Given the description of an element on the screen output the (x, y) to click on. 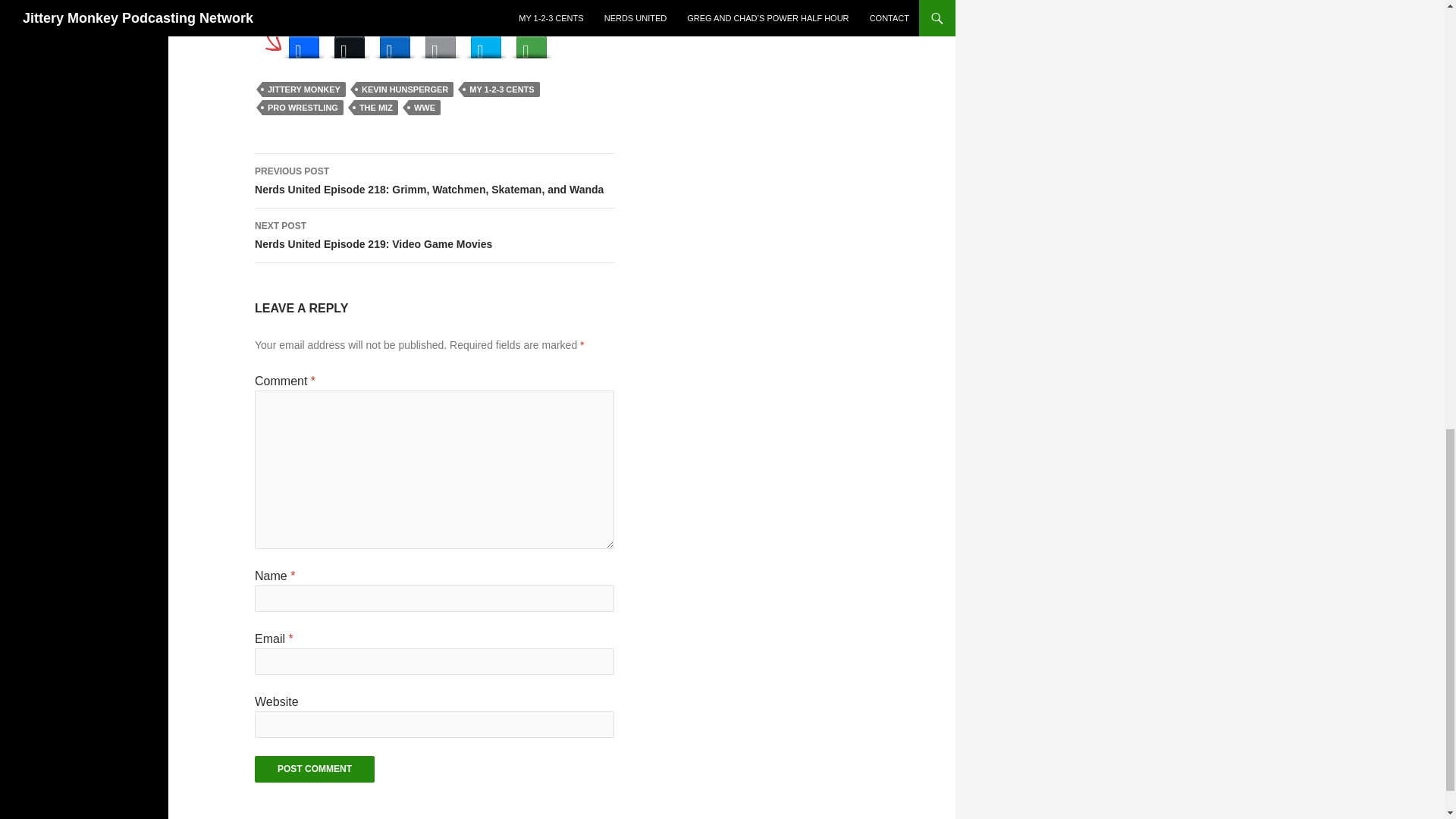
Facebook (303, 43)
THE MIZ (375, 107)
PRO WRESTLING (302, 107)
Post Comment (314, 768)
KEVIN HUNSPERGER (404, 89)
PrintFriendly (485, 43)
More Options (531, 43)
MY 1-2-3 CENTS (501, 89)
WWE (425, 107)
